Given the description of an element on the screen output the (x, y) to click on. 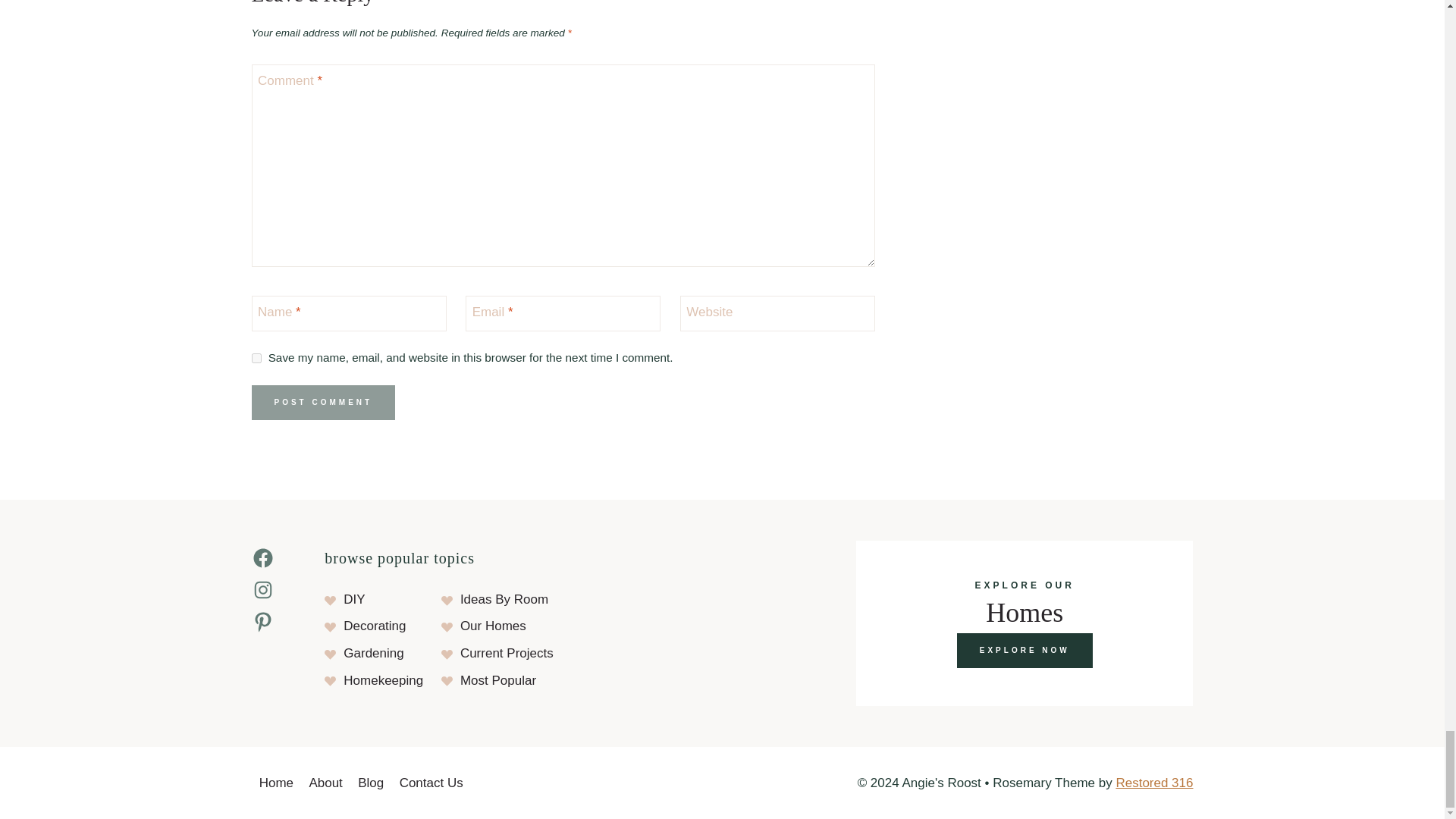
yes (256, 357)
Post Comment (323, 402)
